Given the description of an element on the screen output the (x, y) to click on. 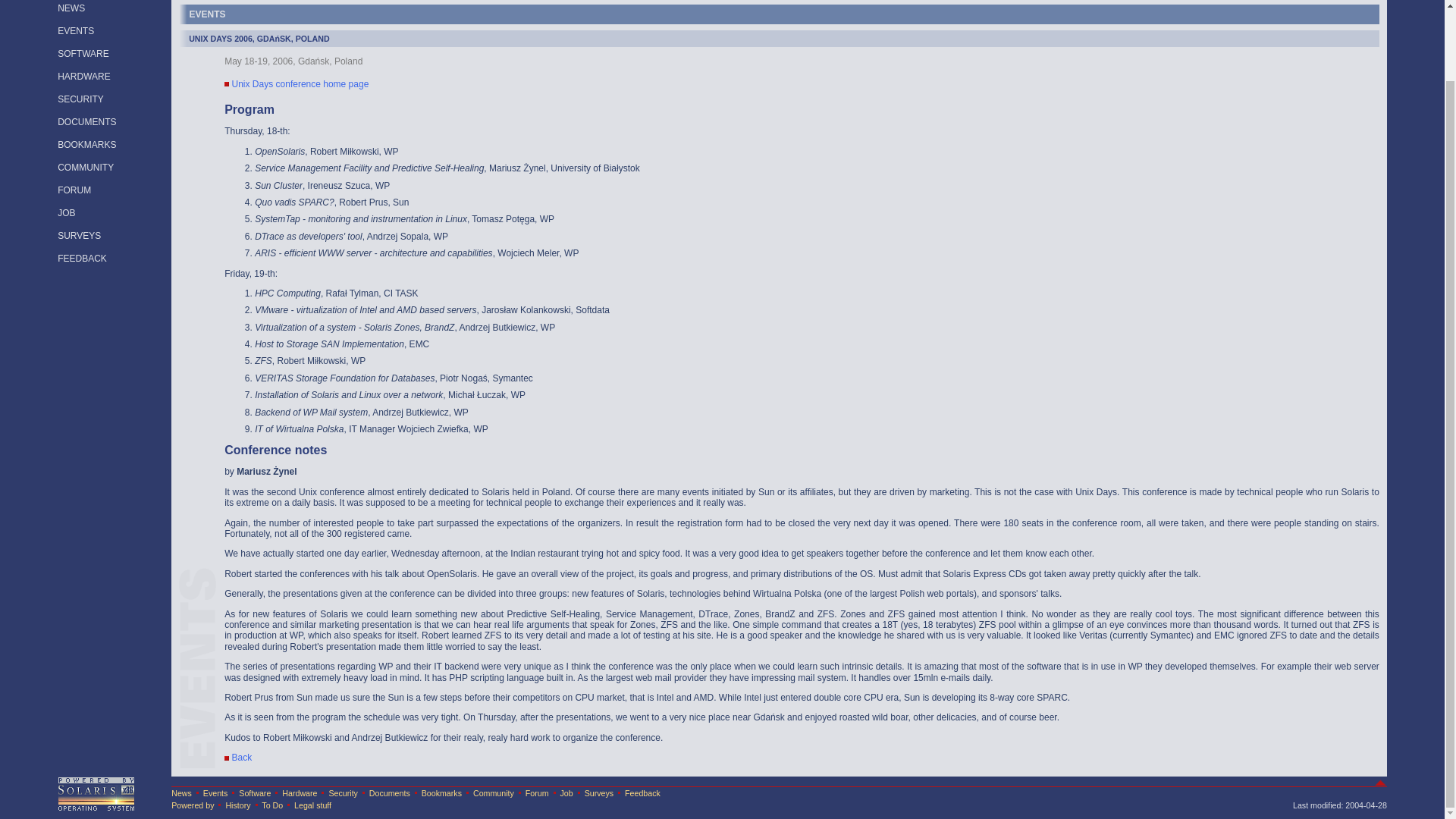
Hardware (300, 792)
Feedback (642, 792)
SECURITY (80, 99)
To Do (272, 804)
HARDWARE (84, 76)
Job (565, 792)
EVENTS (76, 30)
Surveys (599, 792)
Security (343, 792)
Back (241, 757)
SOFTWARE (83, 53)
FORUM (74, 190)
Events (215, 792)
SURVEYS (79, 235)
Bookmarks (441, 792)
